Given the description of an element on the screen output the (x, y) to click on. 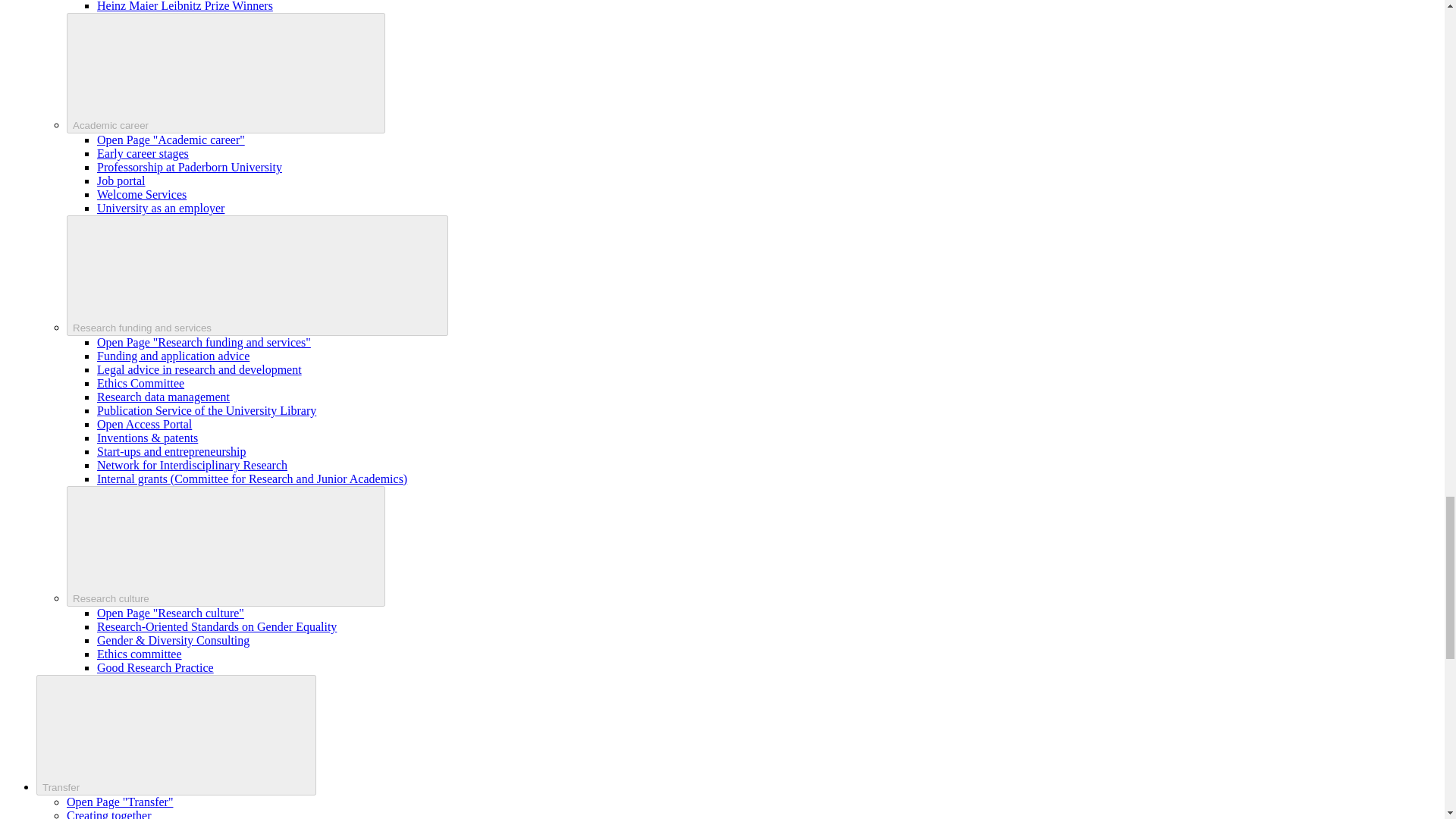
toggle submenu (225, 73)
toggle submenu (225, 546)
toggle submenu (175, 734)
toggle submenu (257, 275)
